Given the description of an element on the screen output the (x, y) to click on. 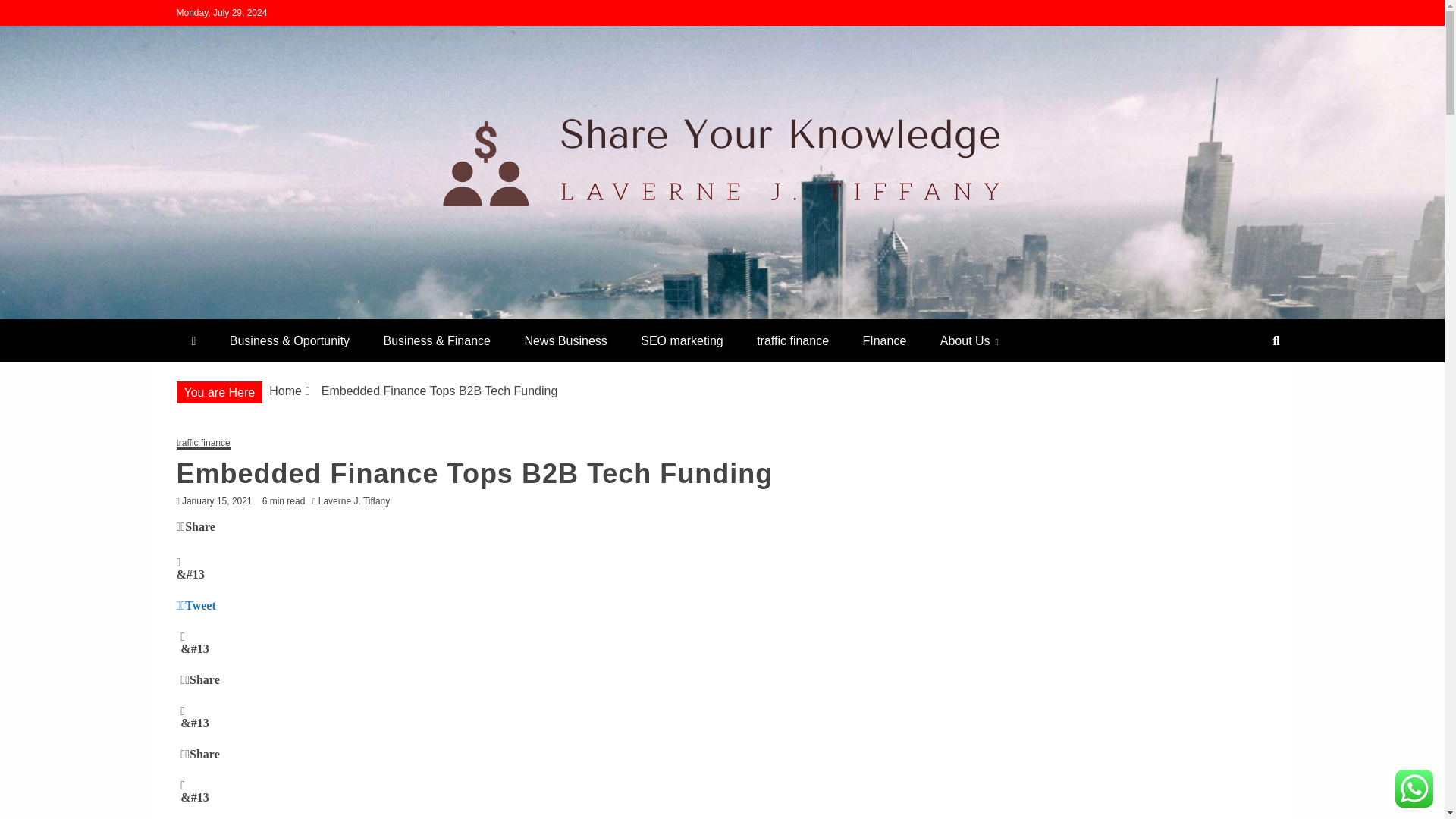
News Business (564, 340)
traffic finance (203, 443)
January 15, 2021 (216, 501)
orderrimagemarketdeli (331, 312)
FInance (884, 340)
SEO marketing (682, 340)
Laverne J. Tiffany (357, 501)
traffic finance (792, 340)
Home (285, 390)
About Us (968, 340)
Search (31, 13)
